Given the description of an element on the screen output the (x, y) to click on. 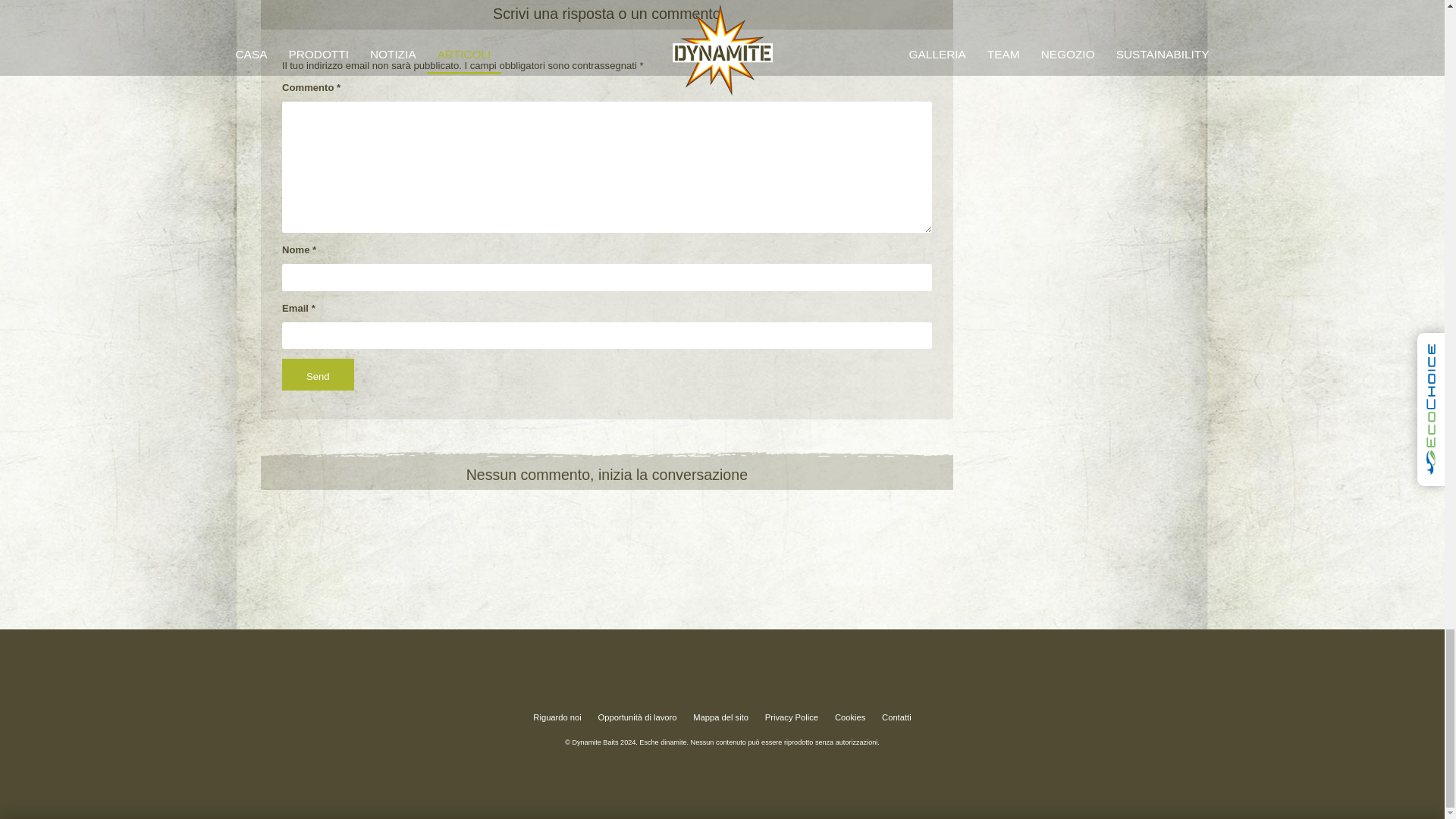
Send (317, 374)
